Given the description of an element on the screen output the (x, y) to click on. 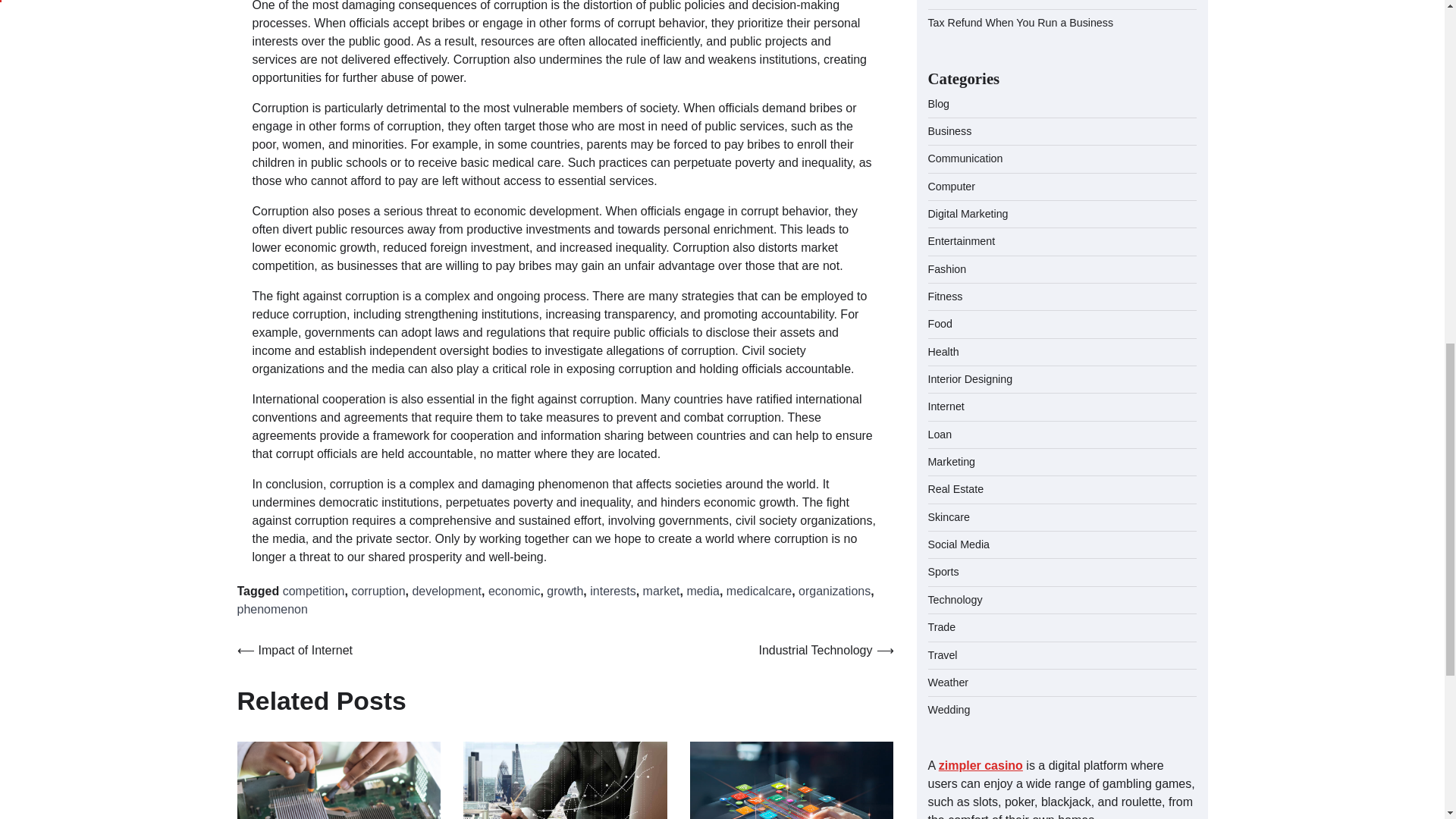
competition (313, 590)
growth (565, 590)
media (702, 590)
corruption (377, 590)
phenomenon (271, 608)
medicalcare (759, 590)
market (661, 590)
economic (513, 590)
organizations (833, 590)
interests (611, 590)
